Given the description of an element on the screen output the (x, y) to click on. 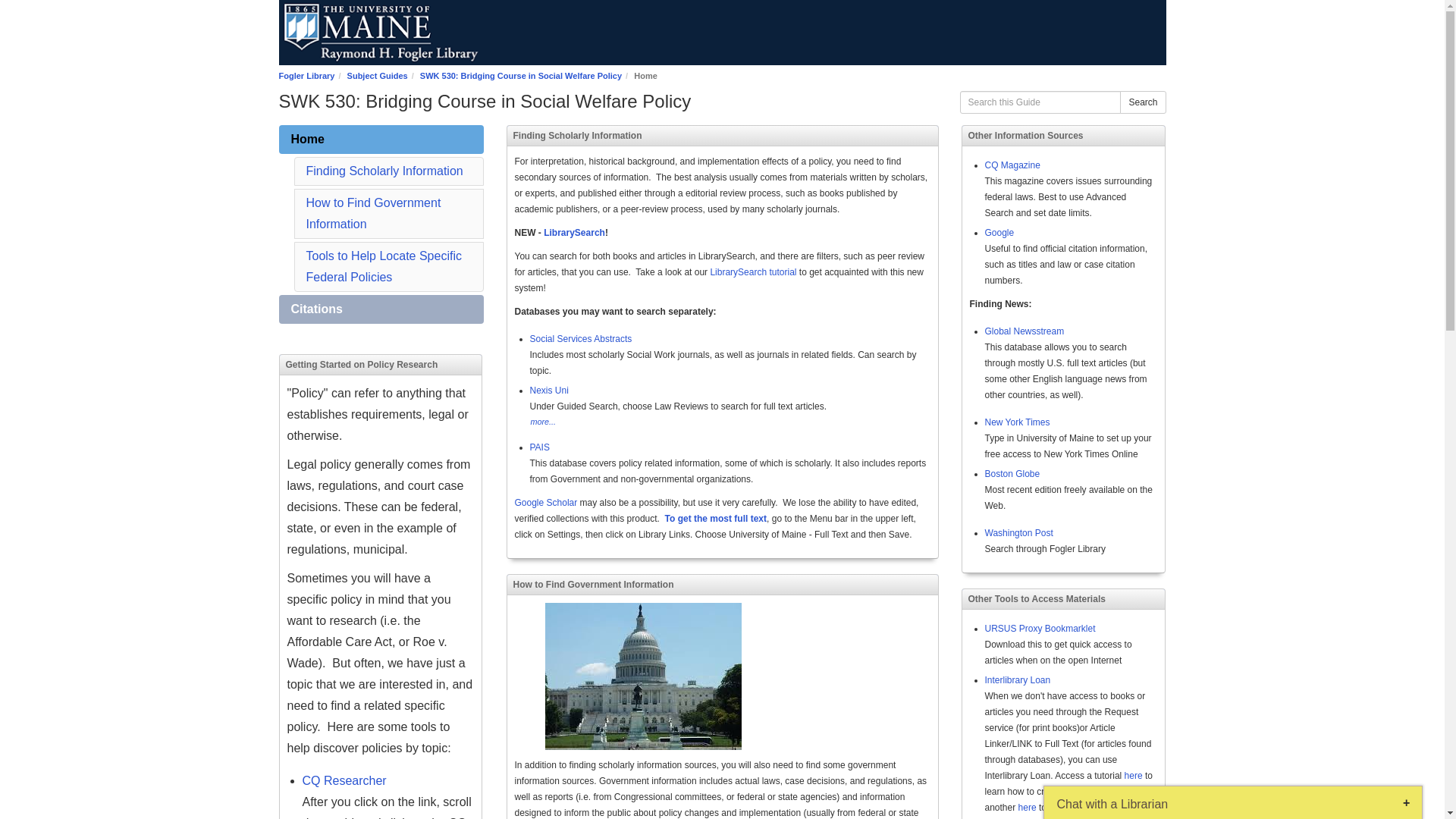
hidden content (381, 308)
Fogler Library (306, 75)
Home (381, 139)
Google Scholar (544, 502)
Finding Scholarly Information (384, 170)
Nexis Uni (548, 389)
Citations (381, 308)
LibrarySearch (574, 232)
more... (542, 421)
Tools to Help Locate Specific Federal Policies (383, 266)
LibrarySearch tutorial (753, 271)
To get the most full text (716, 518)
Subject Guides (377, 75)
PAIS (538, 447)
SWK 530: Bridging Course in Social Welfare Policy (520, 75)
